Given the description of an element on the screen output the (x, y) to click on. 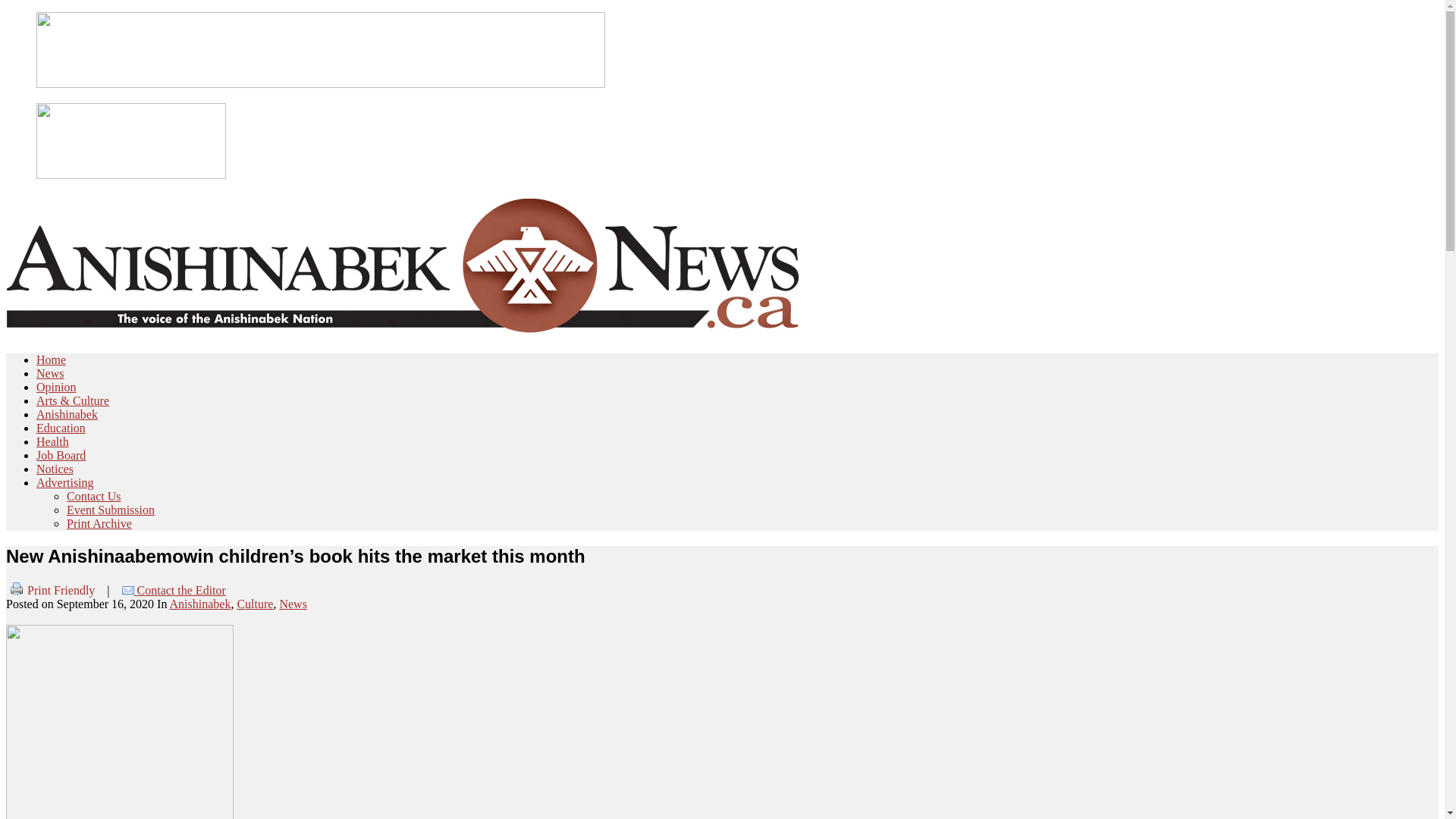
Arts & Culture Element type: text (72, 400)
Health Element type: text (52, 441)
Opinion Element type: text (55, 386)
Job Board Element type: text (60, 454)
Notices Element type: text (54, 468)
Anishinabek Element type: text (200, 603)
News Element type: text (292, 603)
Home Element type: text (50, 359)
 Contact the Editor Element type: text (173, 589)
Advertising Element type: text (65, 482)
News Element type: text (49, 373)
Contact Us Element type: text (93, 495)
Print Friendly Element type: text (50, 589)
Culture Element type: text (254, 603)
Education Element type: text (60, 427)
Print Archive Element type: text (98, 523)
Event Submission Element type: text (110, 509)
Anishinabek Element type: text (66, 413)
